Given the description of an element on the screen output the (x, y) to click on. 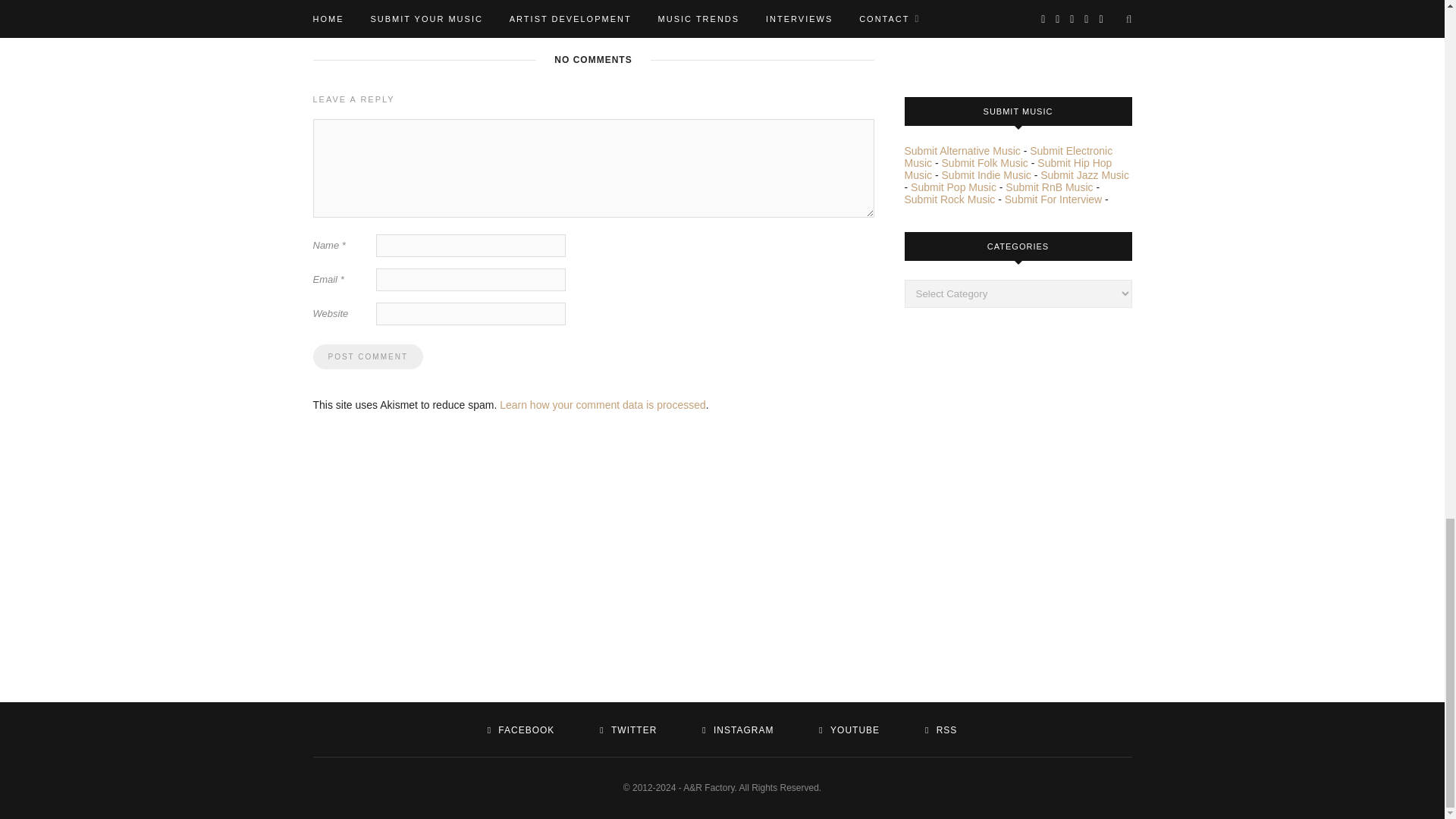
Post Comment (367, 356)
Learn how your comment data is processed (602, 404)
Post Comment (367, 356)
